Given the description of an element on the screen output the (x, y) to click on. 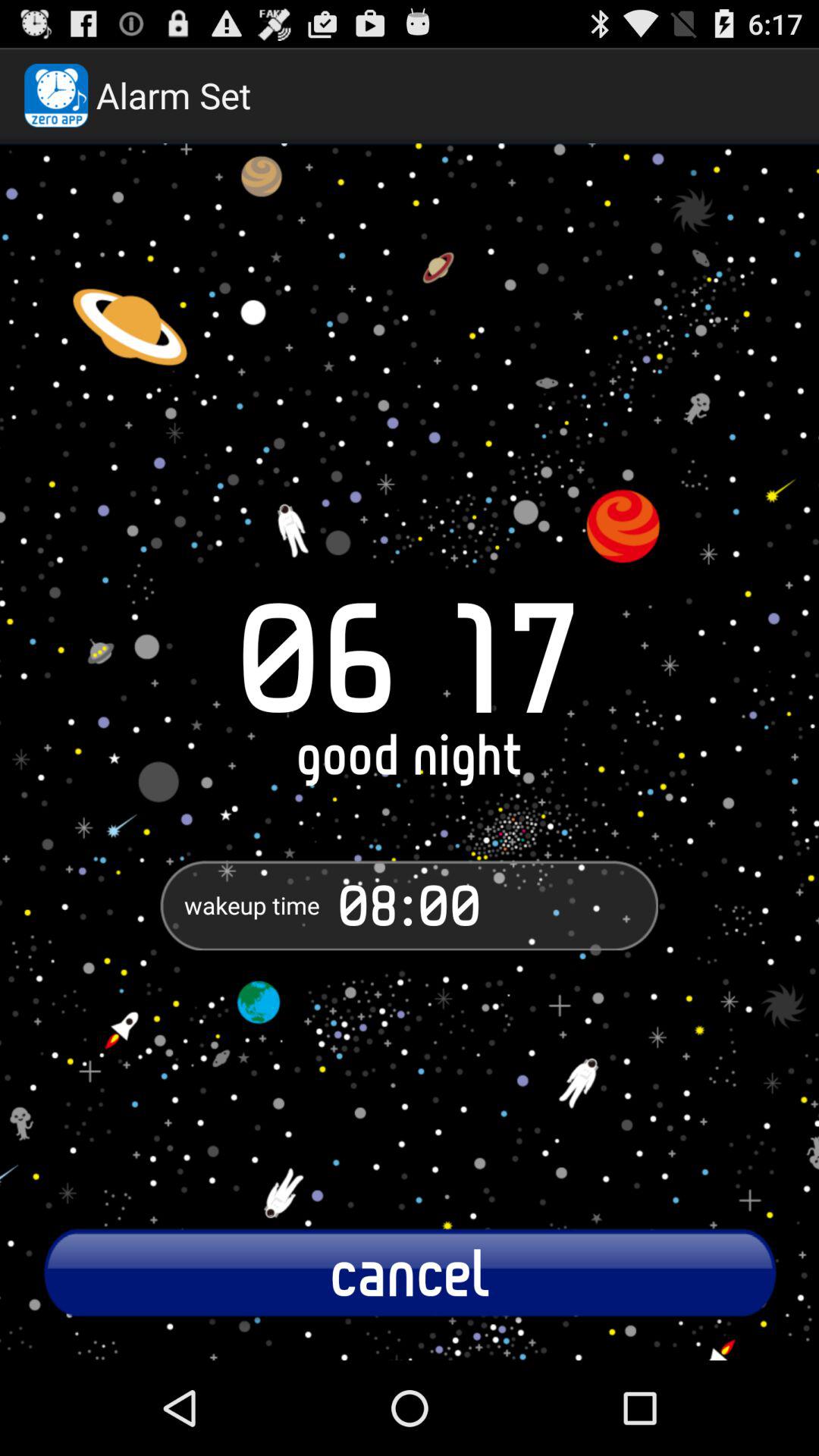
turn off icon at the bottom (409, 1271)
